Given the description of an element on the screen output the (x, y) to click on. 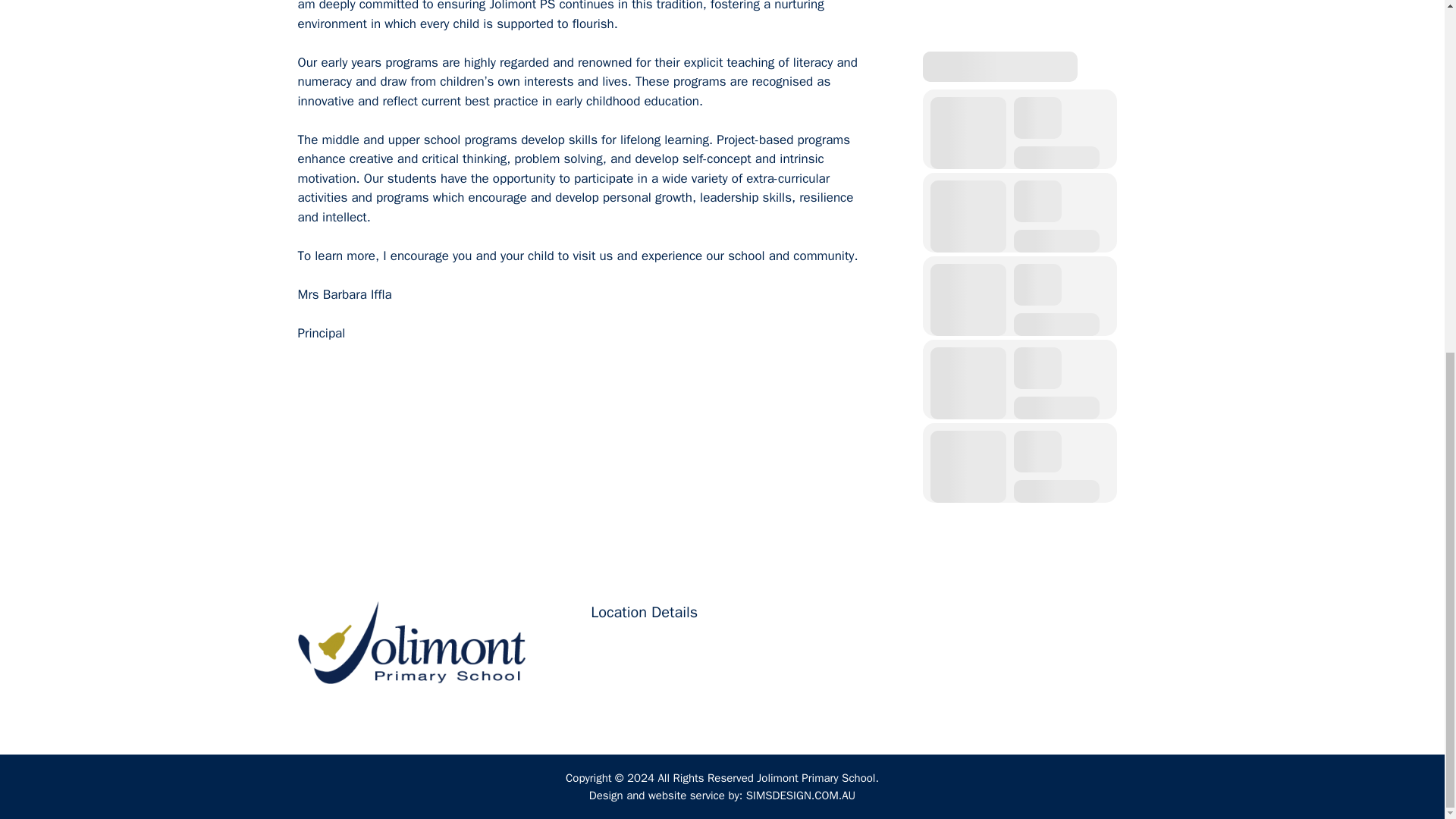
SIMSDESIGN.COM.AU (800, 795)
